Given the description of an element on the screen output the (x, y) to click on. 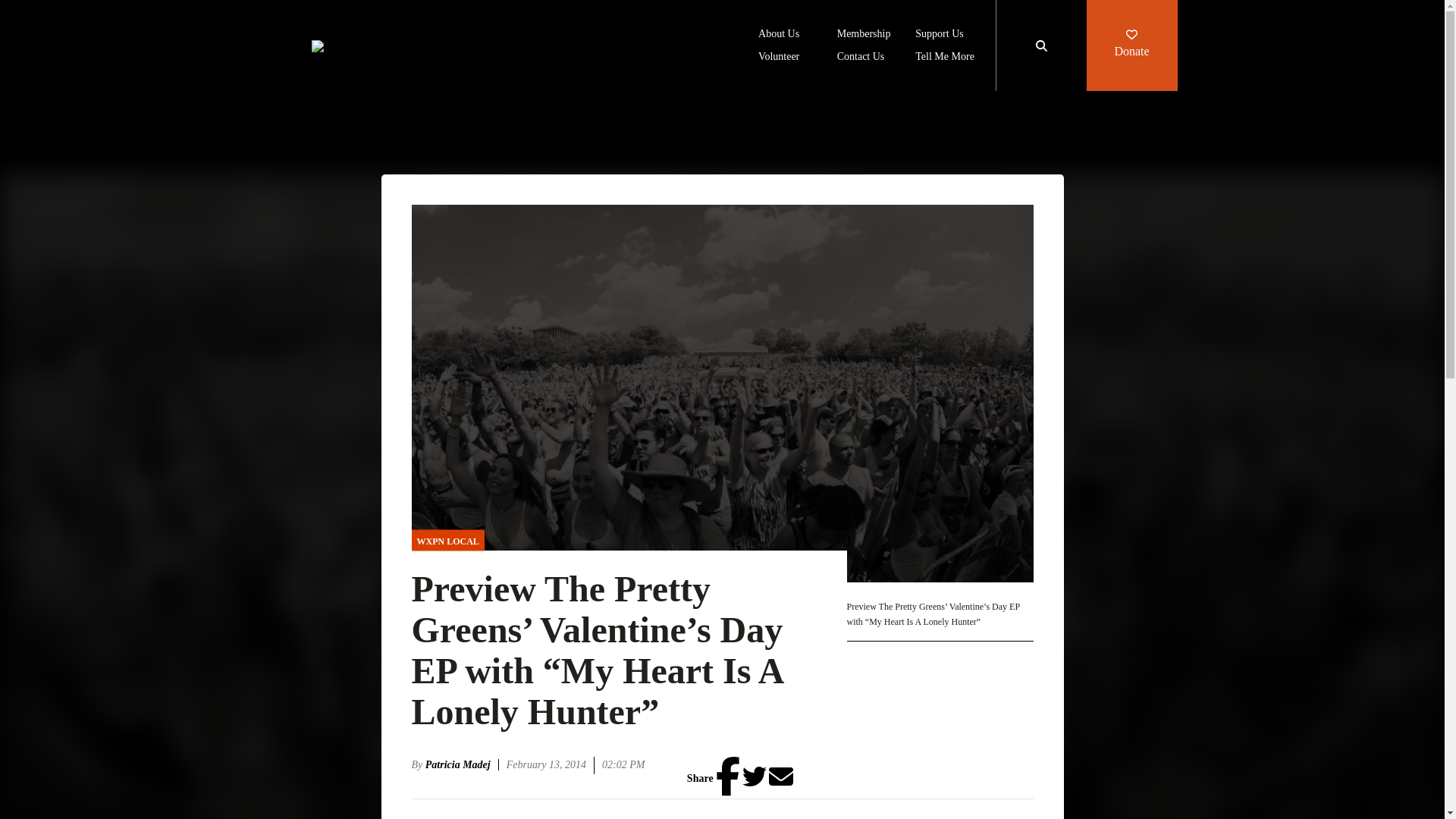
Patricia Madej (462, 764)
Membership (864, 35)
About Us (778, 35)
Tell Me More (944, 57)
Contact Us (861, 57)
Volunteer (778, 57)
Support Us (938, 35)
Donate (1131, 45)
